Given the description of an element on the screen output the (x, y) to click on. 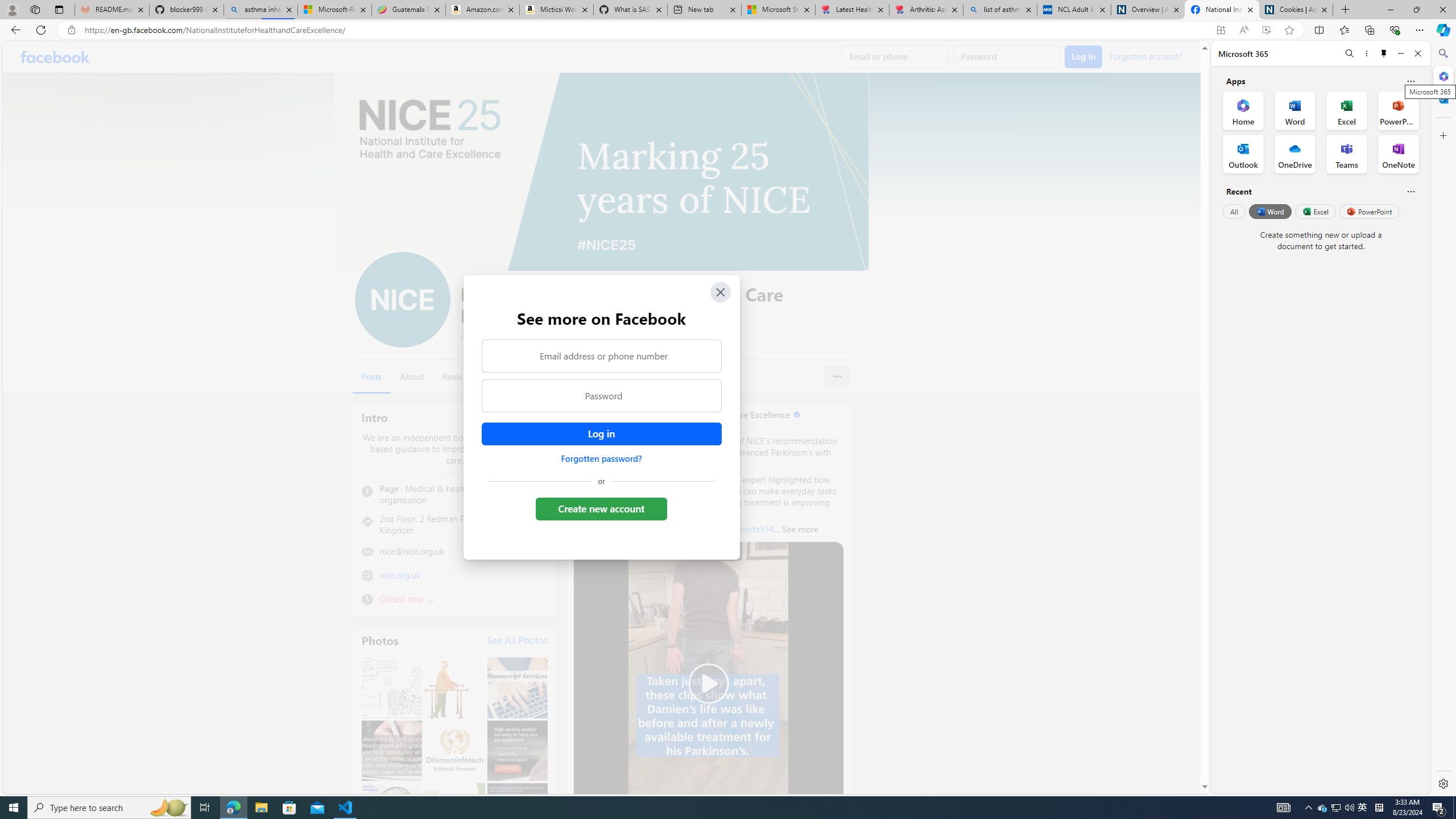
NCL Adult Asthma Inhaler Choice Guideline (1073, 9)
Accessible login button (601, 433)
list of asthma inhalers uk - Search (1000, 9)
Word (1269, 210)
Cookies | About | NICE (1295, 9)
Password (600, 395)
